Given the description of an element on the screen output the (x, y) to click on. 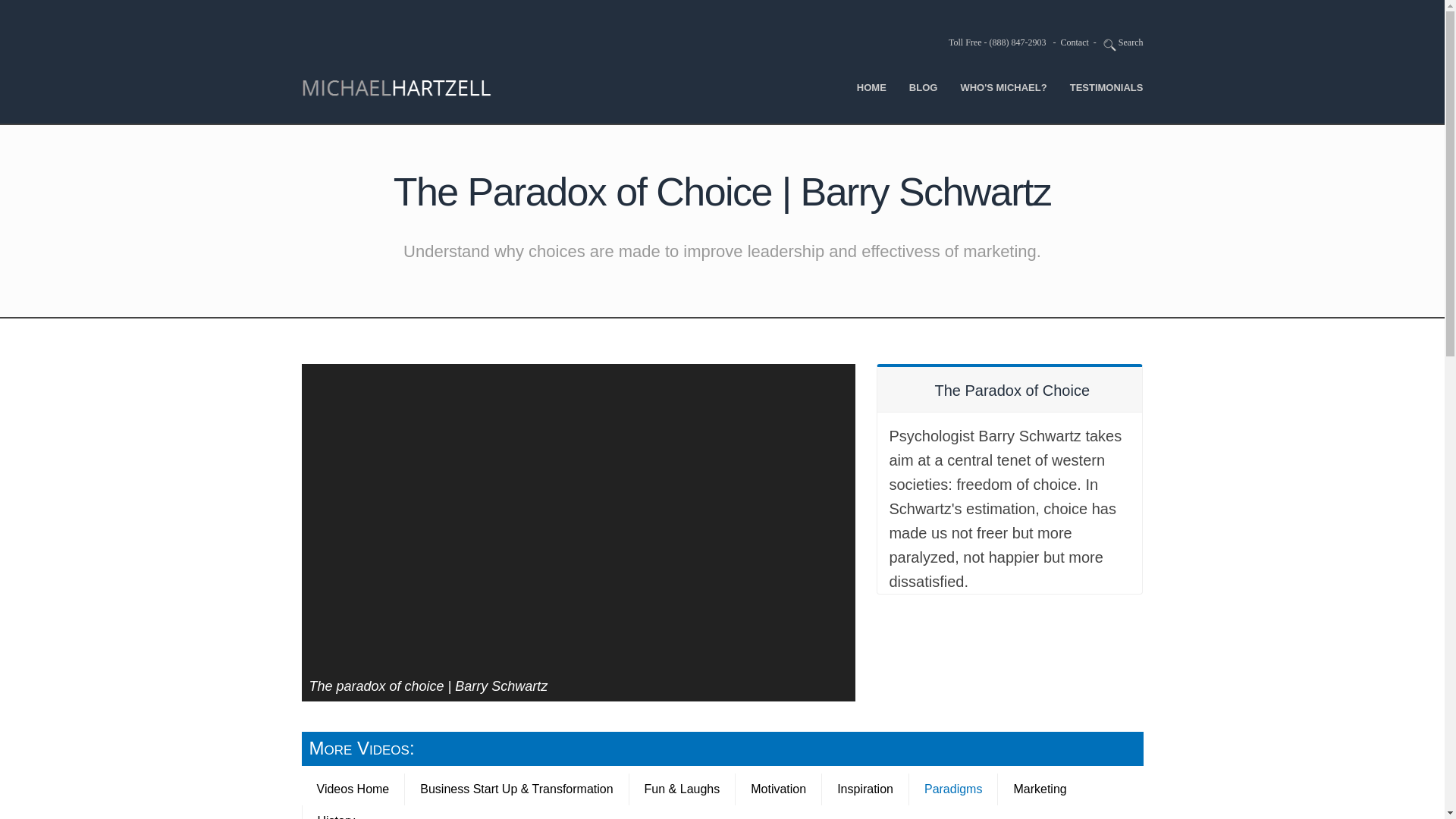
History (336, 812)
WHO'S MICHAEL? (1002, 87)
Search (1122, 41)
Inspiration (864, 789)
michaelhartzell (398, 87)
Paradigms (952, 789)
TESTIMONIALS (1106, 87)
Videos Home (352, 789)
Marketing (1039, 789)
Motivation (778, 789)
Contact (1073, 41)
